Given the description of an element on the screen output the (x, y) to click on. 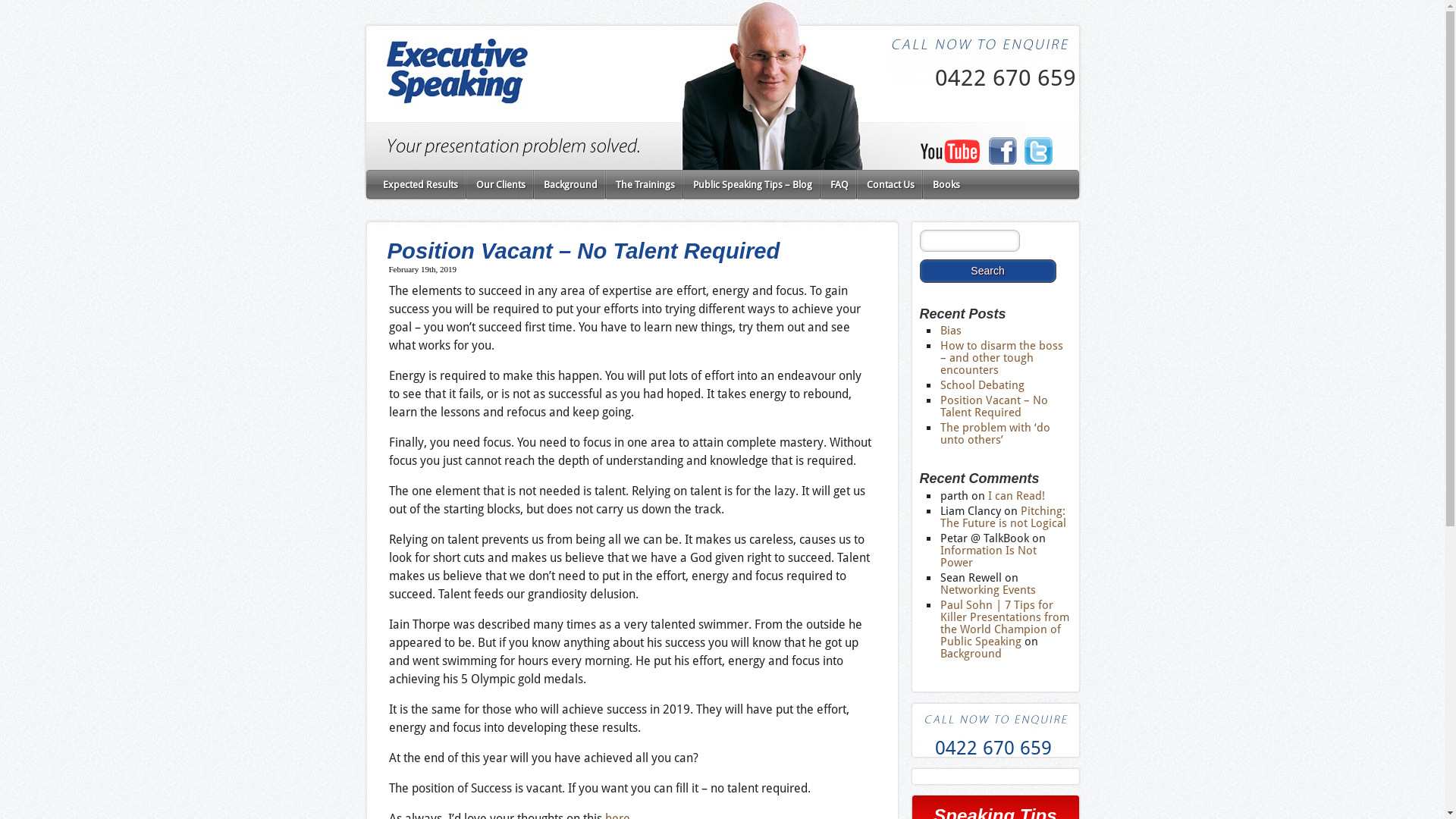
Darren Fleming on Facebook Element type: hover (1001, 160)
Our Clients Element type: text (500, 184)
Books Element type: text (946, 184)
Expected Results Element type: text (419, 184)
Contact Us Element type: text (889, 184)
FAQ Element type: text (838, 184)
Darren Fleming on YouTube Element type: hover (949, 159)
Background Element type: text (569, 184)
Pitching: The Future is not Logical Element type: text (1003, 517)
I can Read! Element type: text (1015, 495)
Darren Fleming on Twitter Element type: hover (1037, 161)
School Debating Element type: text (982, 385)
Networking Events Element type: text (987, 589)
Information Is Not Power Element type: text (988, 556)
Search Element type: text (987, 270)
The Trainings Element type: text (645, 184)
Background Element type: text (970, 653)
Bias Element type: text (950, 330)
